Given the description of an element on the screen output the (x, y) to click on. 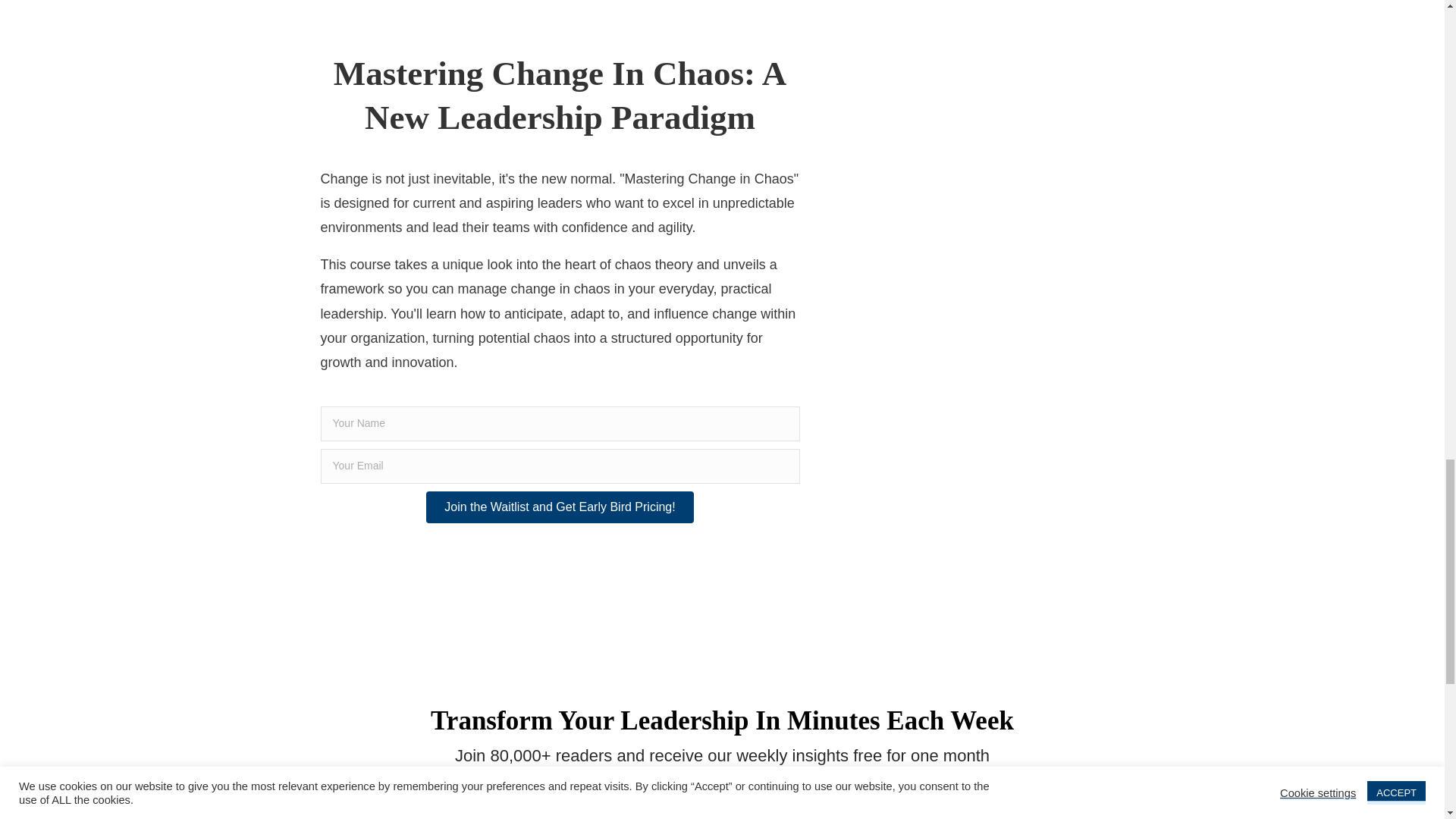
Get Started for Free (941, 812)
Join the Waitlist and Get Early Bird Pricing! (559, 507)
7 Ways To Protect Yourself In A Toxic Work Environment9 (976, 279)
